Given the description of an element on the screen output the (x, y) to click on. 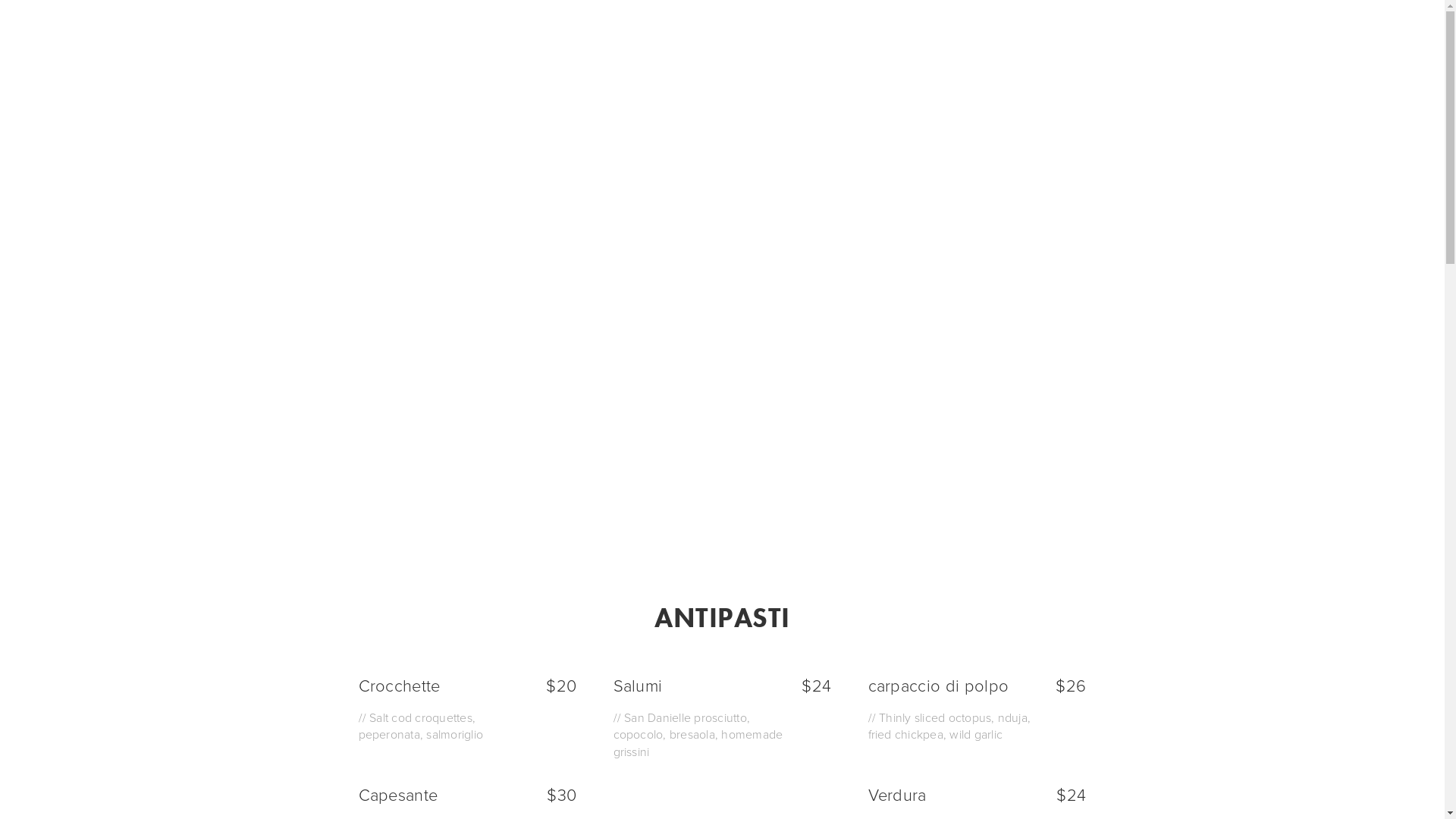
WINE Element type: text (1175, 28)
GIFT VOUCHERS Element type: text (1339, 28)
BOOKINGS Element type: text (1242, 28)
DEL POSTO 2409 Element type: text (136, 28)
MENU Element type: text (1120, 28)
